Given the description of an element on the screen output the (x, y) to click on. 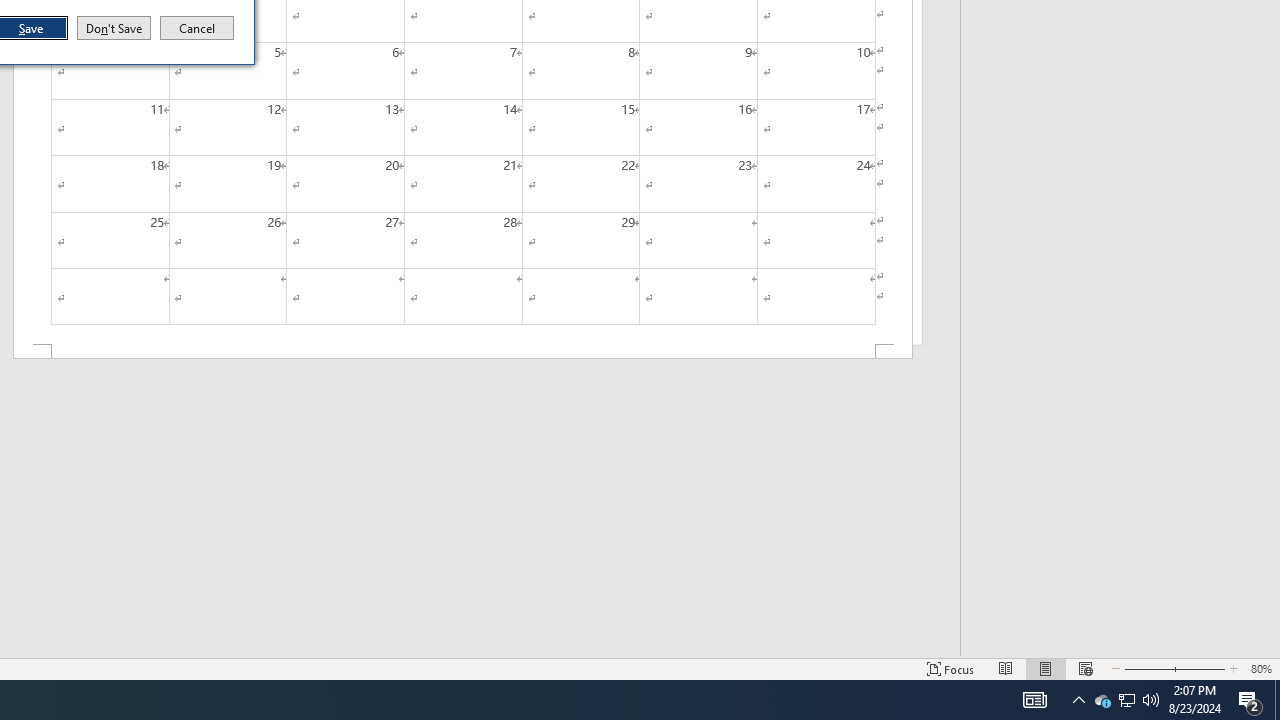
User Promoted Notification Area (1102, 699)
Print Layout (1126, 699)
Show desktop (1046, 668)
Read Mode (1277, 699)
Zoom Out (1005, 668)
Cancel (1143, 668)
Focus  (1126, 699)
Zoom In (197, 27)
Footer -Section 2- (951, 668)
Web Layout (1195, 668)
Q2790: 100% (462, 351)
